Given the description of an element on the screen output the (x, y) to click on. 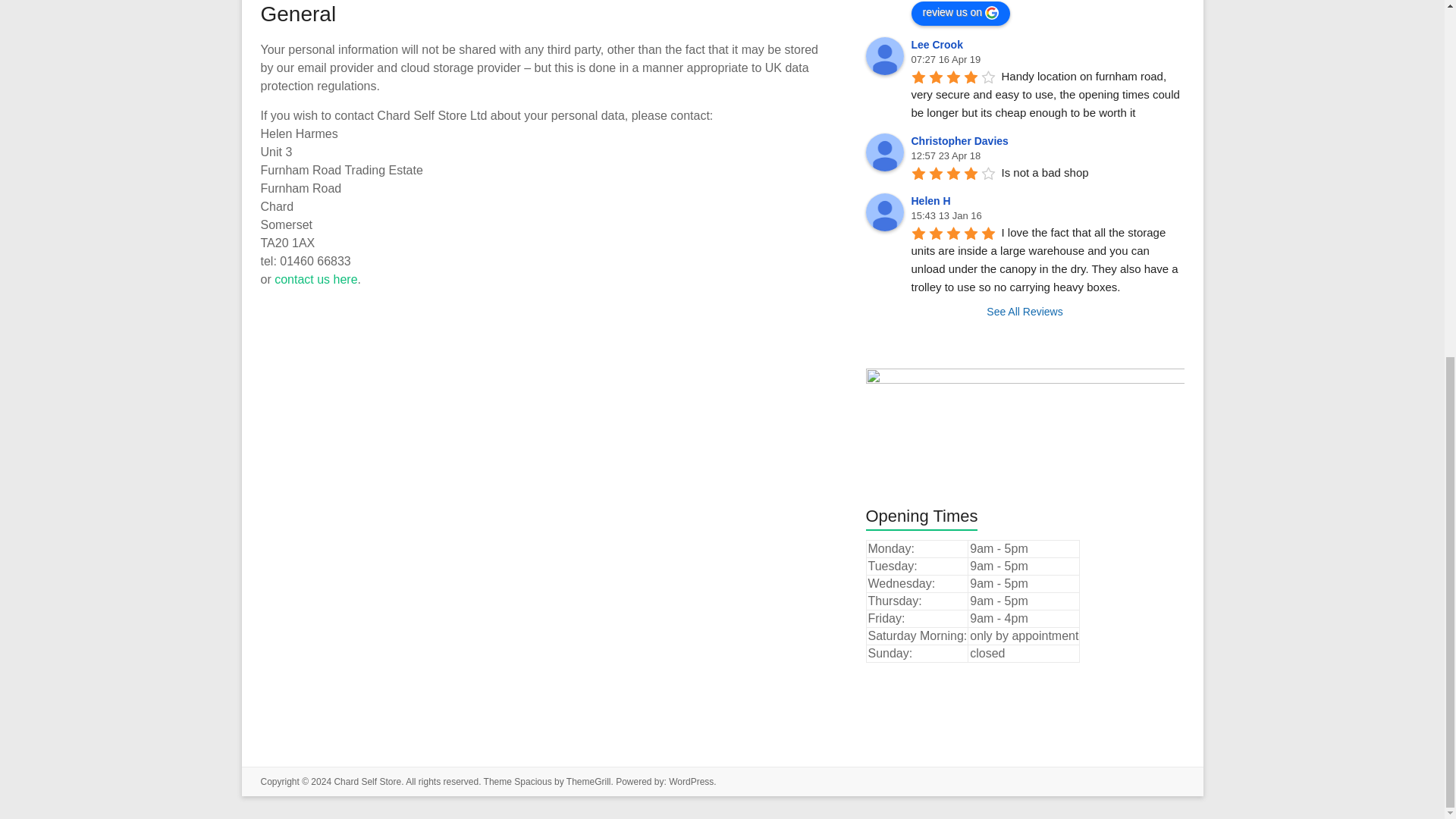
Chard Self Store (367, 781)
See All Reviews (1025, 311)
review us on (960, 13)
contact us here (315, 278)
Christopher Davies (885, 152)
Helen H (885, 211)
Spacious (532, 781)
Christopher Davies (962, 141)
Helen H (933, 200)
Lee Crook (939, 44)
